Given the description of an element on the screen output the (x, y) to click on. 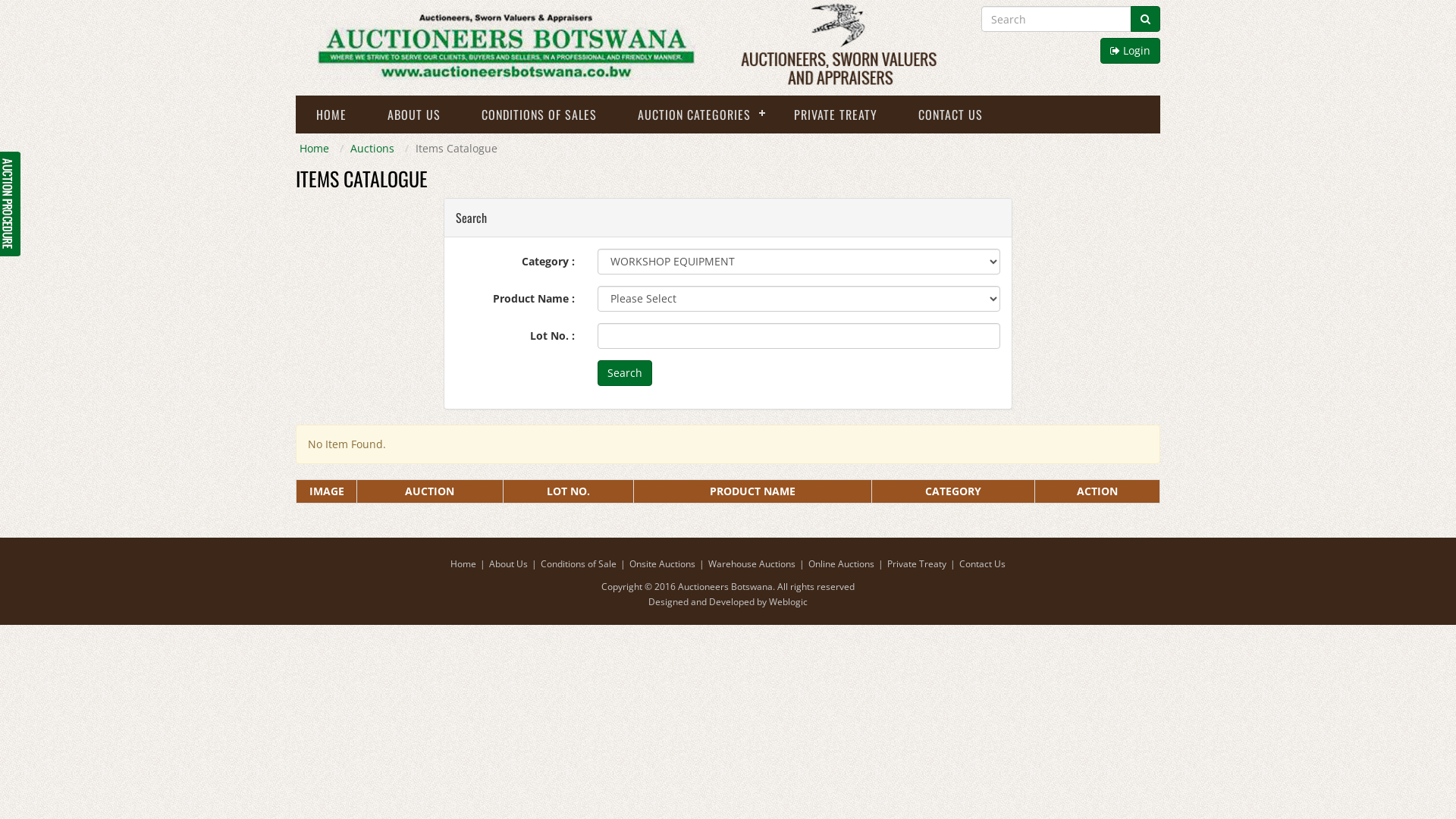
Private Treaty Element type: text (916, 563)
HOME Element type: text (331, 114)
Login Element type: text (1130, 50)
Conditions of Sale Element type: text (578, 563)
Designed and Developed by Weblogic Element type: text (727, 595)
About Us Element type: text (508, 563)
Search Element type: text (624, 372)
AUCTION CATEGORIES Element type: text (695, 114)
Home Element type: text (462, 563)
CONDITIONS OF SALES Element type: text (539, 114)
Home Element type: text (314, 148)
Auctions Element type: text (372, 148)
Contact Us Element type: text (982, 563)
ABOUT US Element type: text (414, 114)
CONTACT US Element type: text (950, 114)
Online Auctions Element type: text (840, 563)
Warehouse Auctions Element type: text (751, 563)
PRIVATE TREATY Element type: text (835, 114)
Onsite Auctions Element type: text (661, 563)
